Given the description of an element on the screen output the (x, y) to click on. 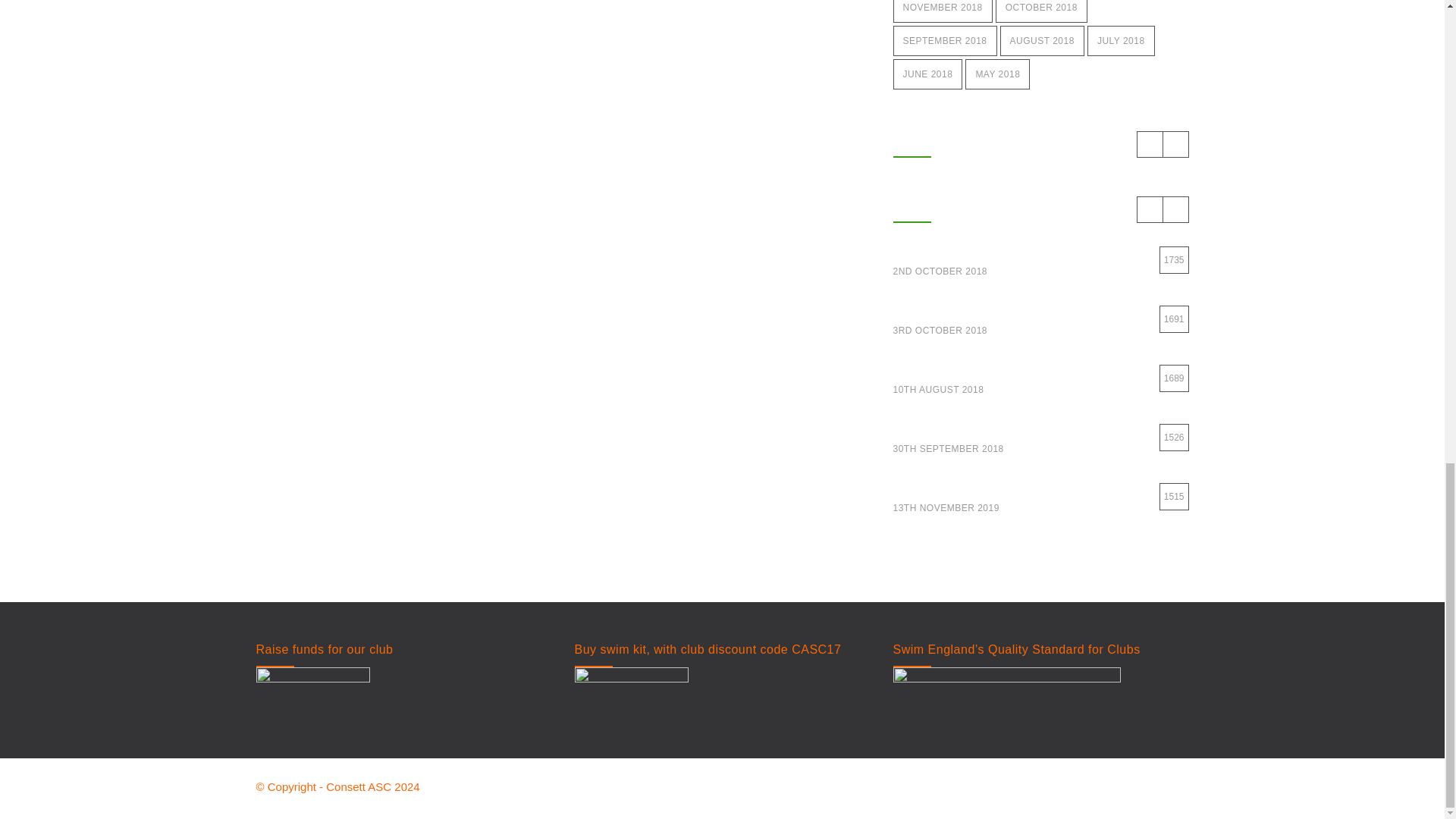
Most Commented (1041, 144)
Most Viewed (1041, 208)
Most Commented (1041, 144)
2nd October 2018 (979, 271)
3rd October 2018 (959, 330)
Club Championships 2018 (1041, 319)
